Given the description of an element on the screen output the (x, y) to click on. 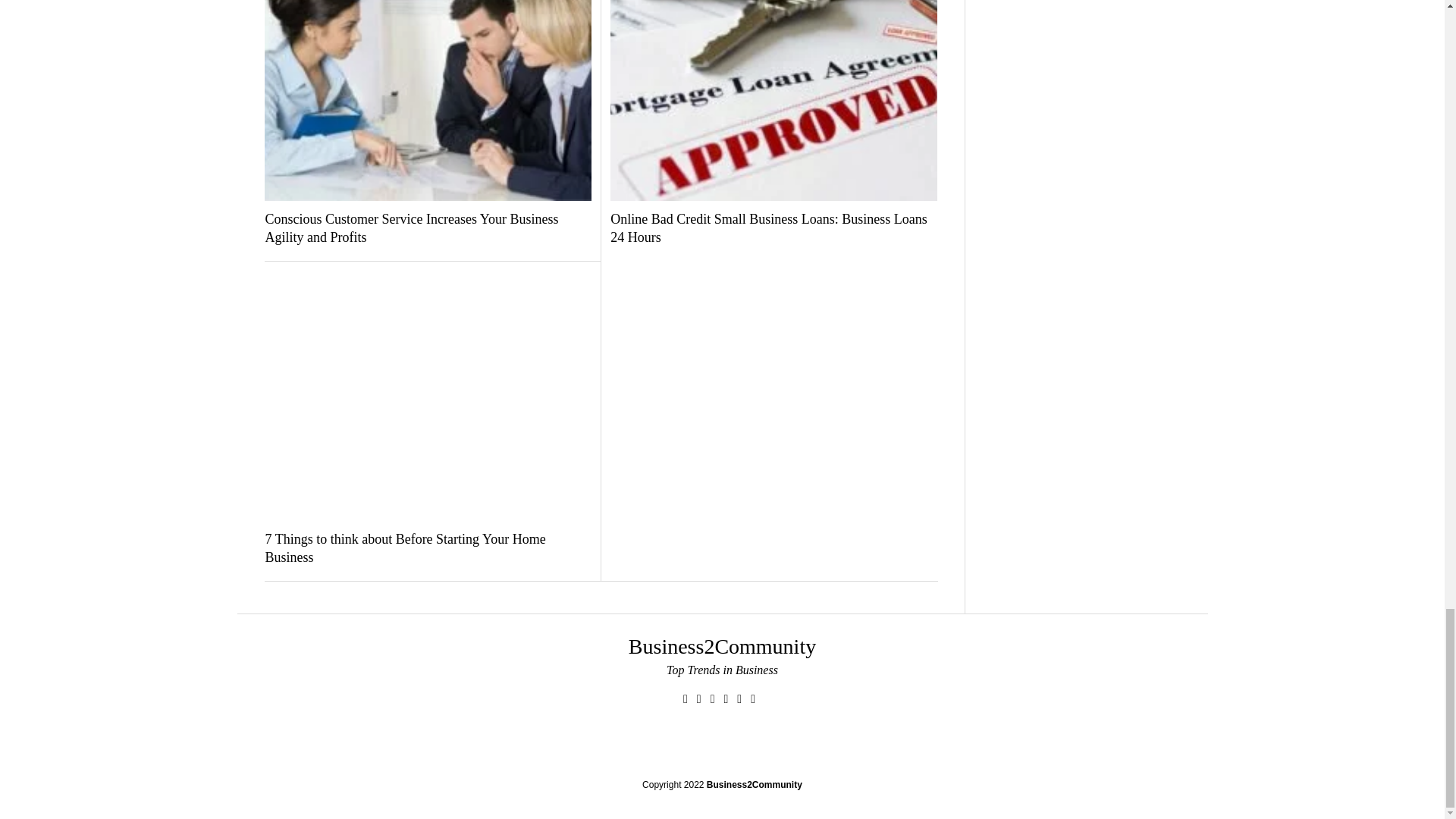
7 Things to think about Before Starting Your Home Business (427, 548)
